Given the description of an element on the screen output the (x, y) to click on. 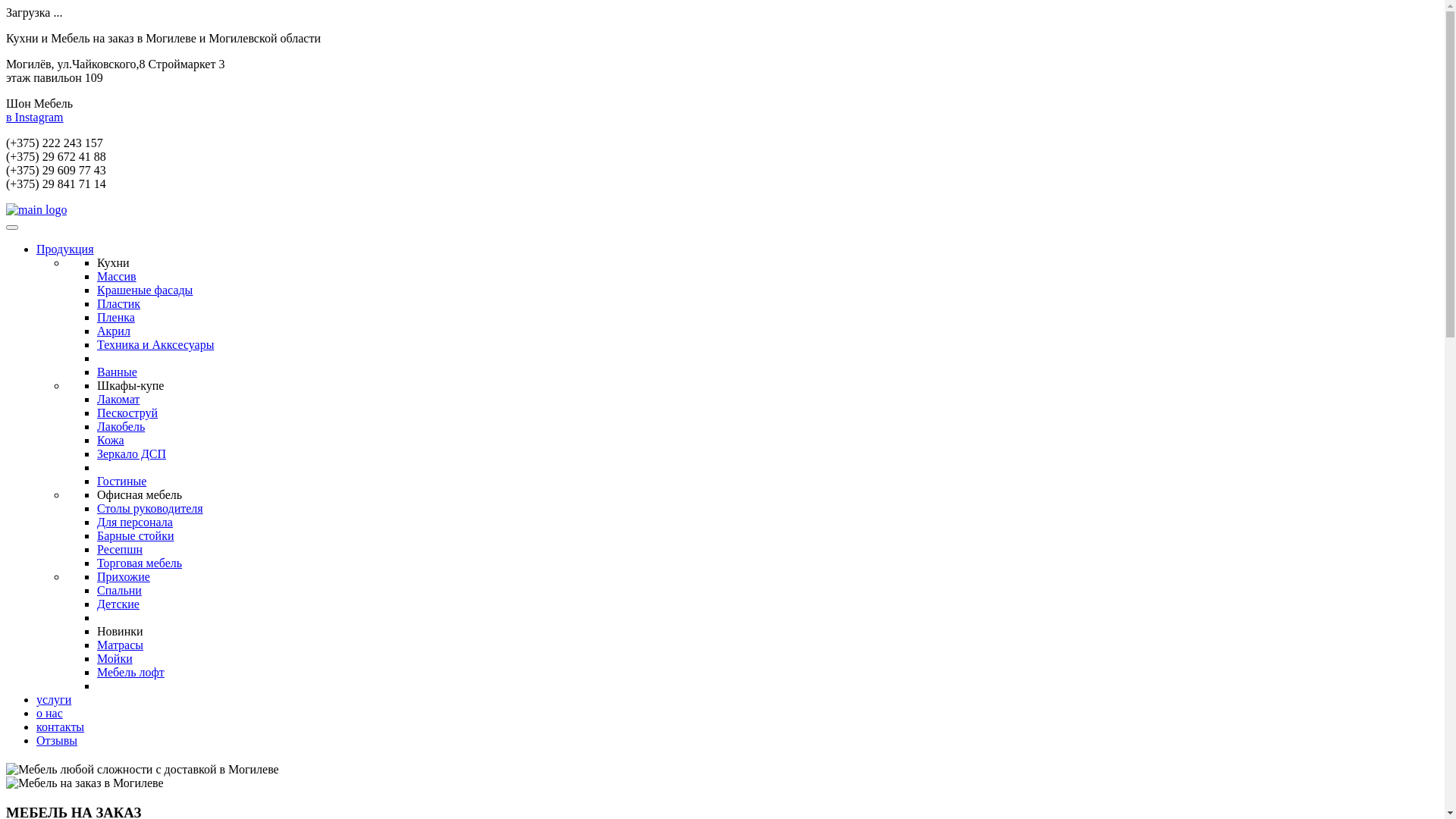
Toggle navigation Element type: text (12, 227)
